Given the description of an element on the screen output the (x, y) to click on. 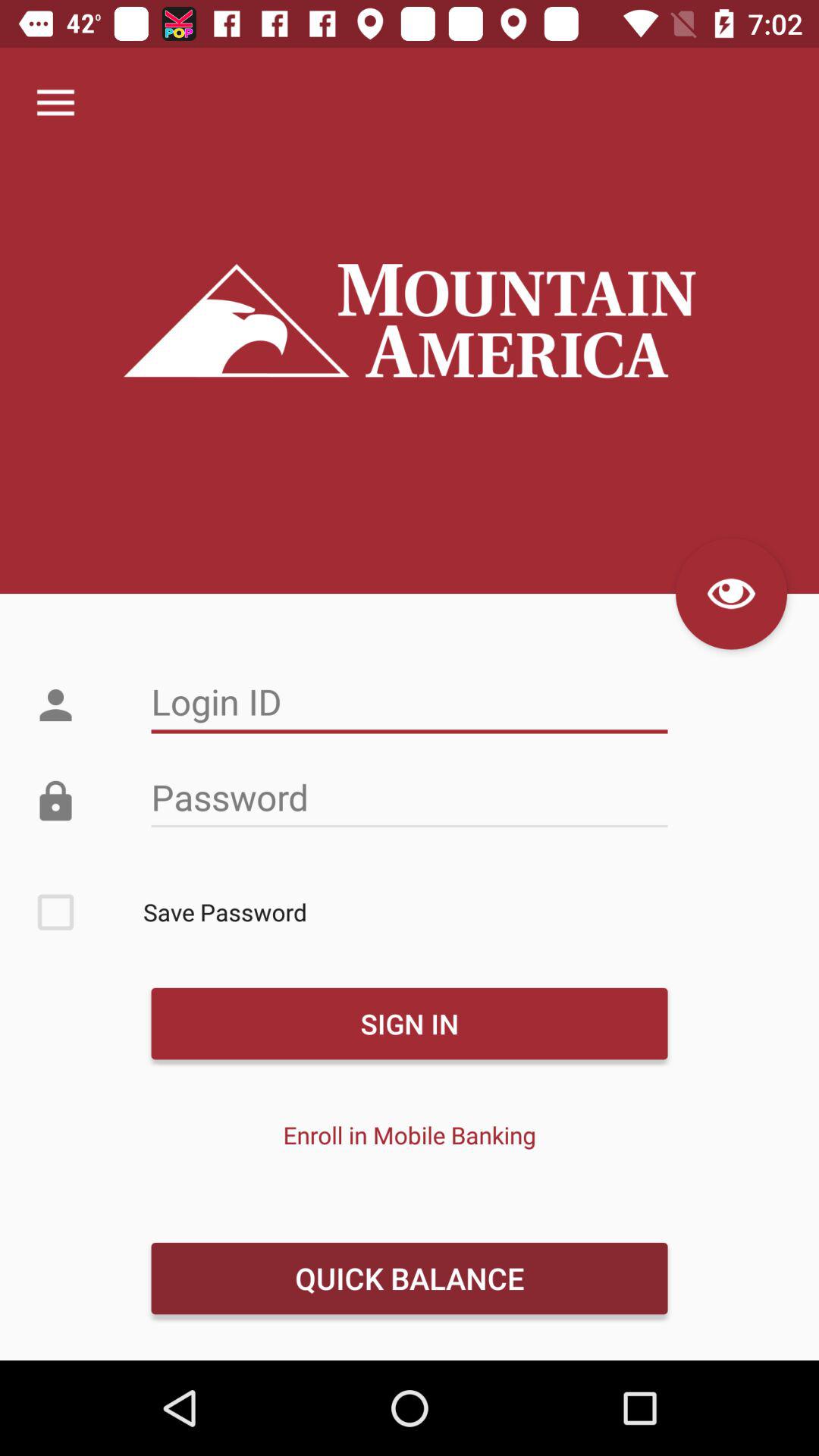
open the sign in (409, 1023)
